Given the description of an element on the screen output the (x, y) to click on. 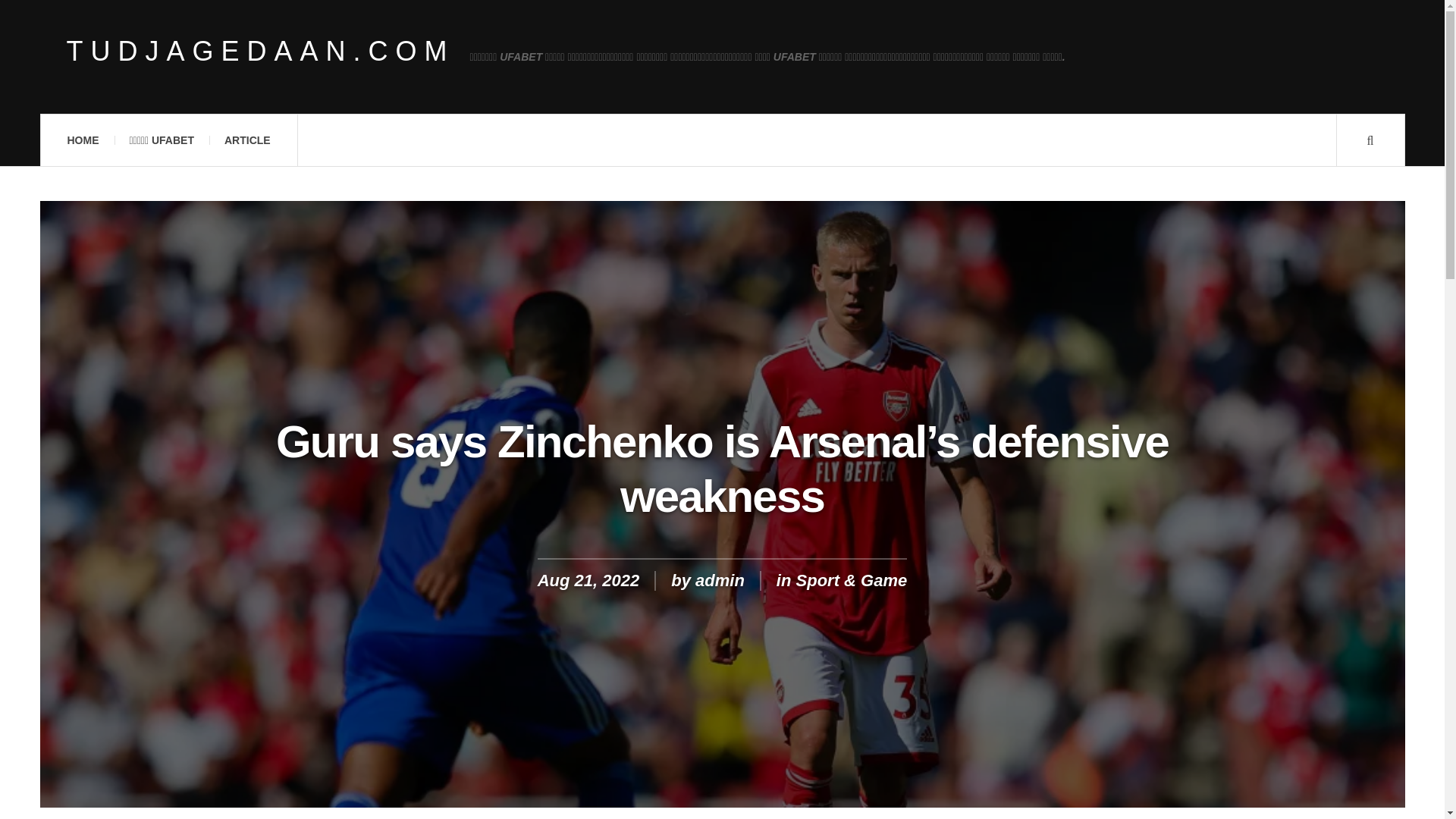
ARTICLE (247, 140)
admin (719, 579)
tudjagedaan.com (260, 51)
TUDJAGEDAAN.COM (260, 51)
HOME (81, 140)
